Given the description of an element on the screen output the (x, y) to click on. 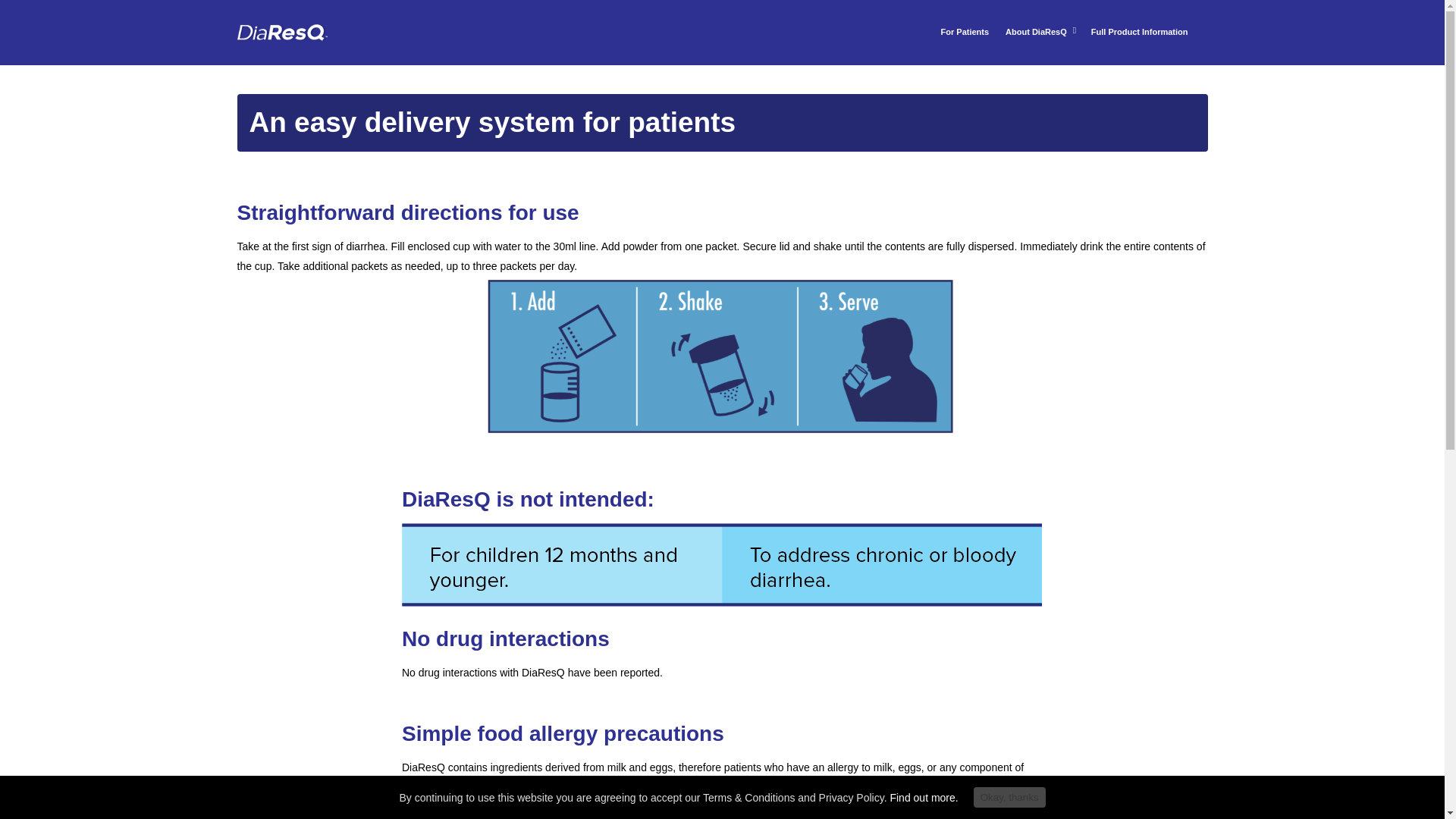
About DiaResQ (1039, 43)
Full Product Information (1139, 42)
For Patients (965, 42)
